Given the description of an element on the screen output the (x, y) to click on. 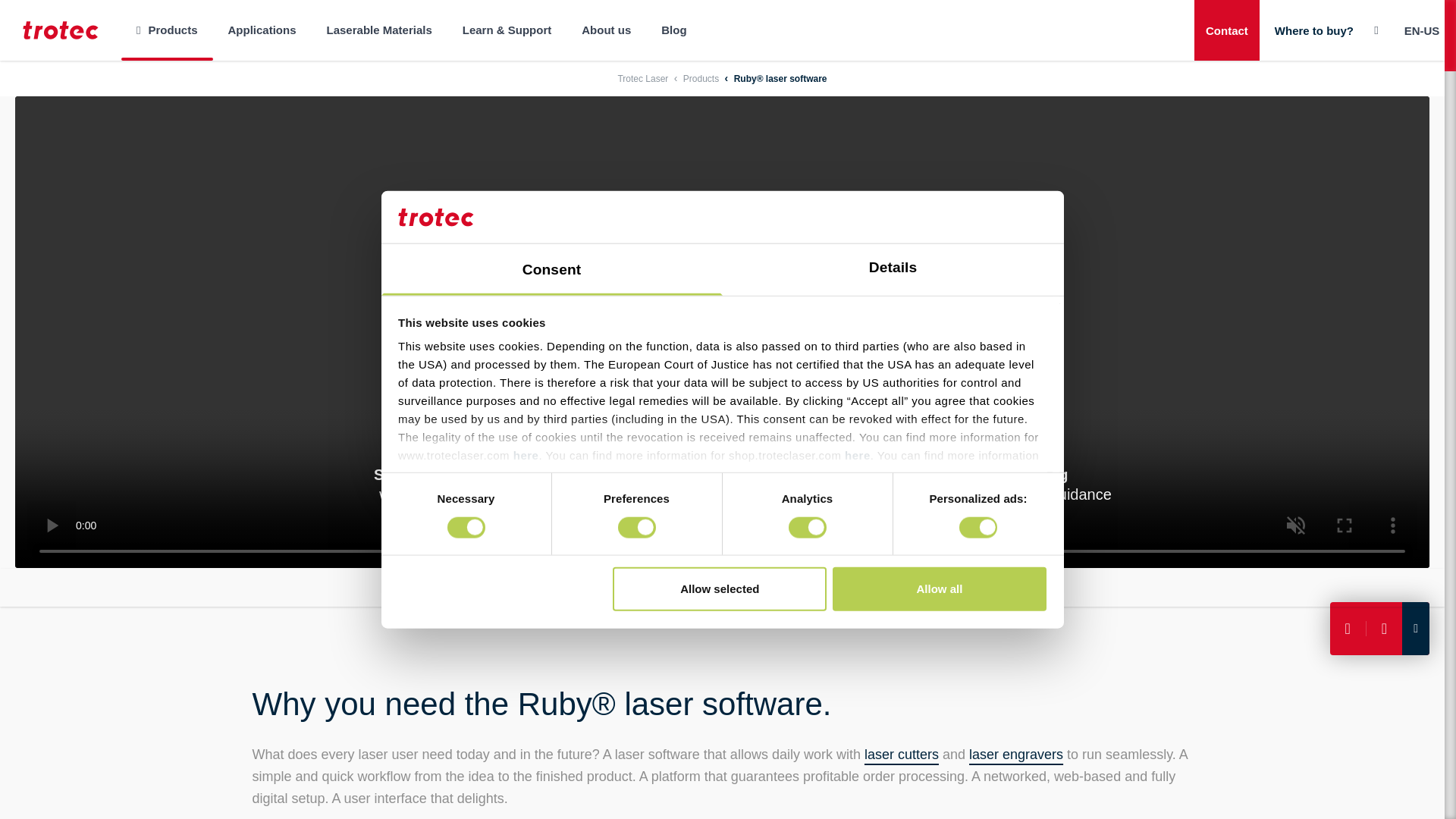
FAQs (913, 587)
here (575, 472)
Features (622, 587)
Download software (715, 587)
Customer stories (832, 587)
Details (892, 269)
here (857, 454)
here (525, 454)
Consent (551, 269)
